Given the description of an element on the screen output the (x, y) to click on. 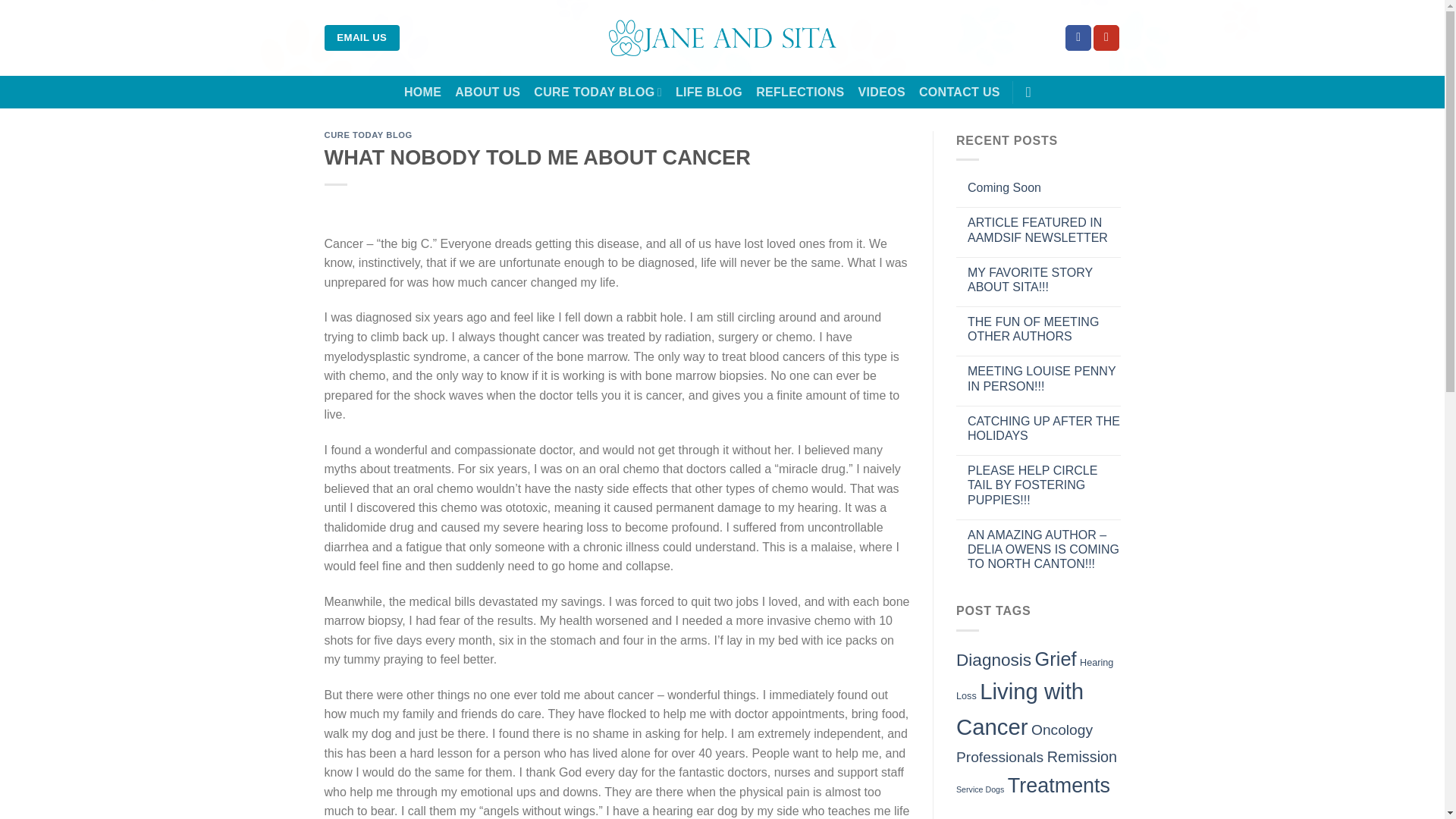
VIDEOS (882, 92)
CONTACT US (959, 92)
Coming Soon (1044, 187)
EMAIL US (362, 37)
MY FAVORITE STORY ABOUT SITA!!! (1044, 279)
LIFE BLOG (708, 92)
REFLECTIONS (799, 92)
HOME (422, 92)
CURE TODAY BLOG (368, 134)
ARTICLE FEATURED IN AAMDSIF NEWSLETTER (1044, 229)
Follow on YouTube (1106, 37)
Follow on Facebook (1077, 37)
MEETING LOUISE PENNY IN PERSON!!! (1044, 378)
CURE TODAY BLOG (598, 91)
THE FUN OF MEETING OTHER AUTHORS (1044, 328)
